Given the description of an element on the screen output the (x, y) to click on. 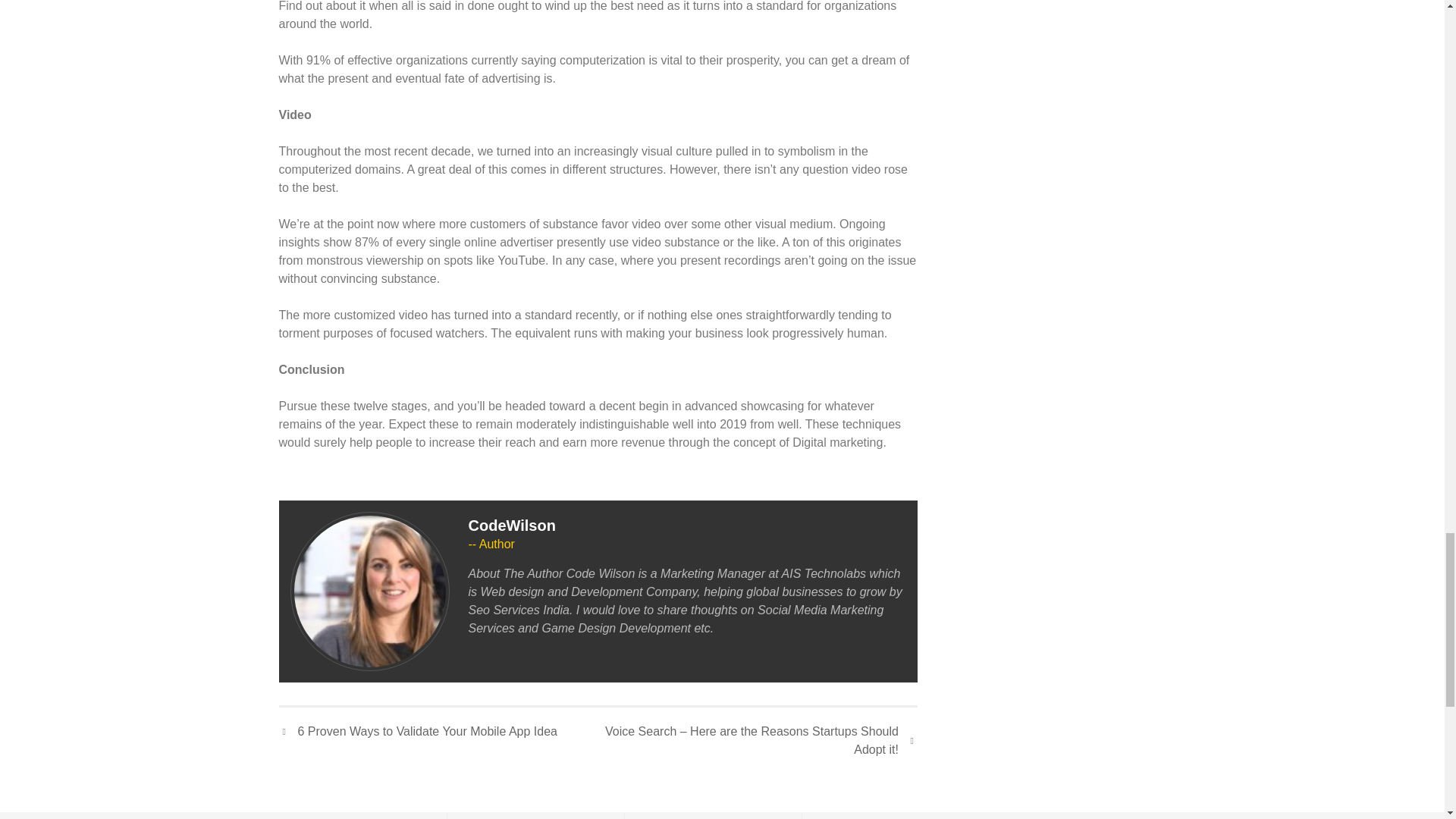
Posts by CodeWilson (512, 524)
